Given the description of an element on the screen output the (x, y) to click on. 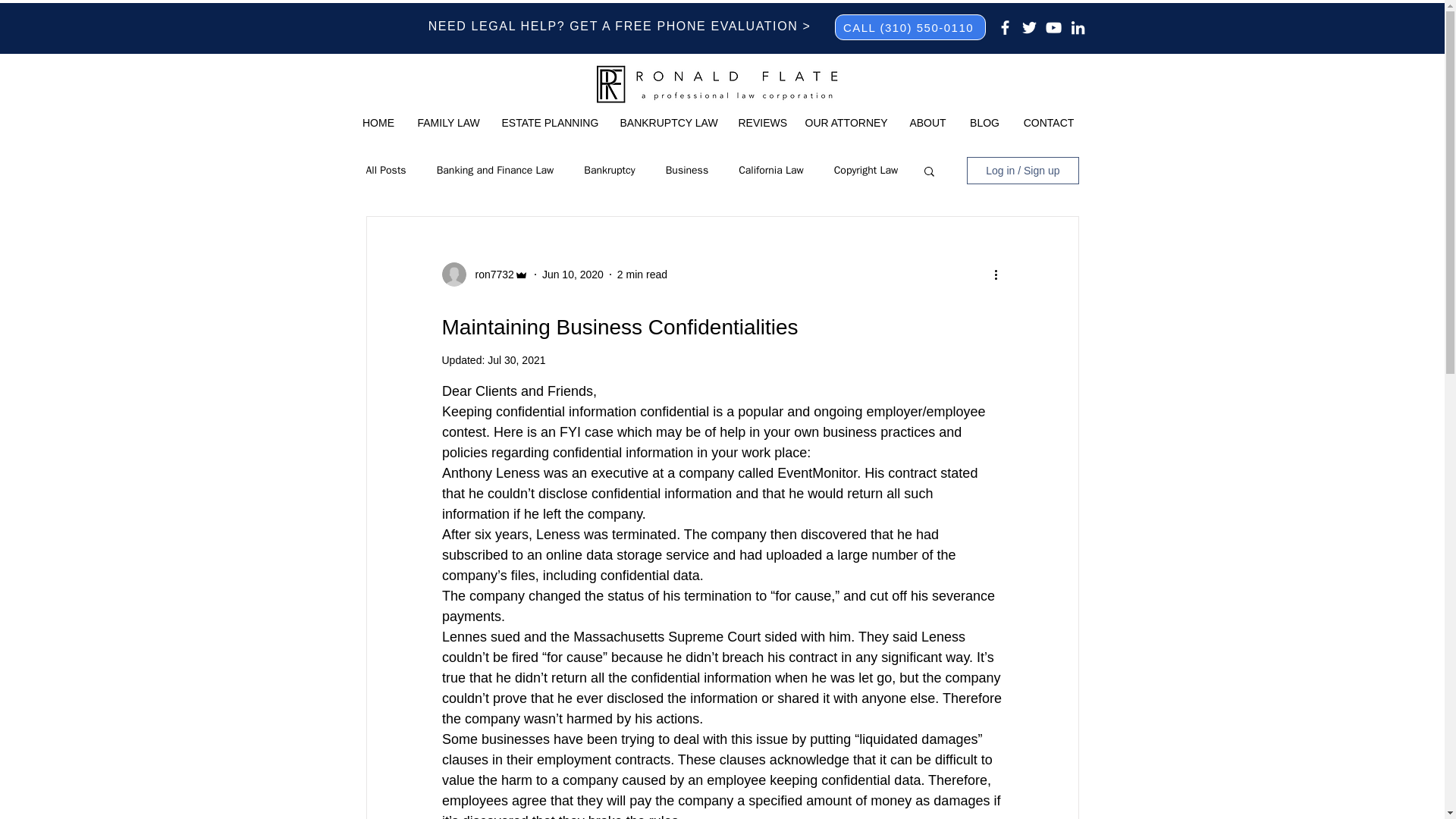
BANKRUPTCY LAW (667, 122)
REVIEWS (759, 122)
Business (686, 170)
Banking and Finance Law (495, 170)
BLOG (984, 122)
OUR ATTORNEY (844, 122)
HOME (378, 122)
All Posts (385, 170)
ABOUT (928, 122)
Jul 30, 2021 (515, 359)
